Given the description of an element on the screen output the (x, y) to click on. 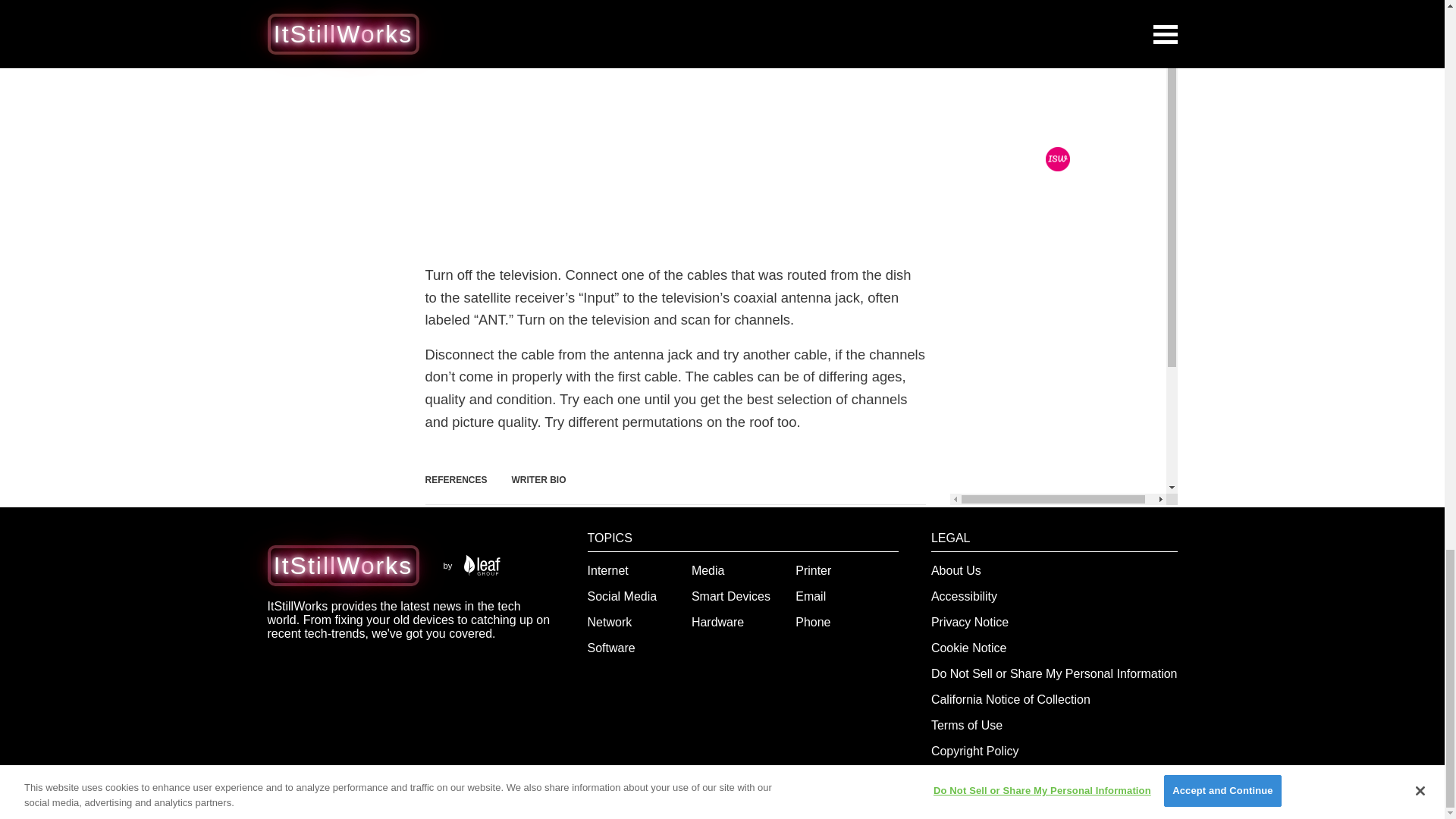
Accessibility (964, 595)
3rd party ad content (674, 144)
Terms of Use (967, 725)
Privacy Notice (970, 621)
Do Not Sell or Share My Personal Information (1054, 673)
Email (809, 595)
Internet (608, 570)
Phone (811, 621)
Smart Devices (730, 595)
ItStillWorks (342, 565)
Printer (812, 570)
Media (708, 570)
Social Media (623, 595)
Network (609, 621)
Software (611, 647)
